Given the description of an element on the screen output the (x, y) to click on. 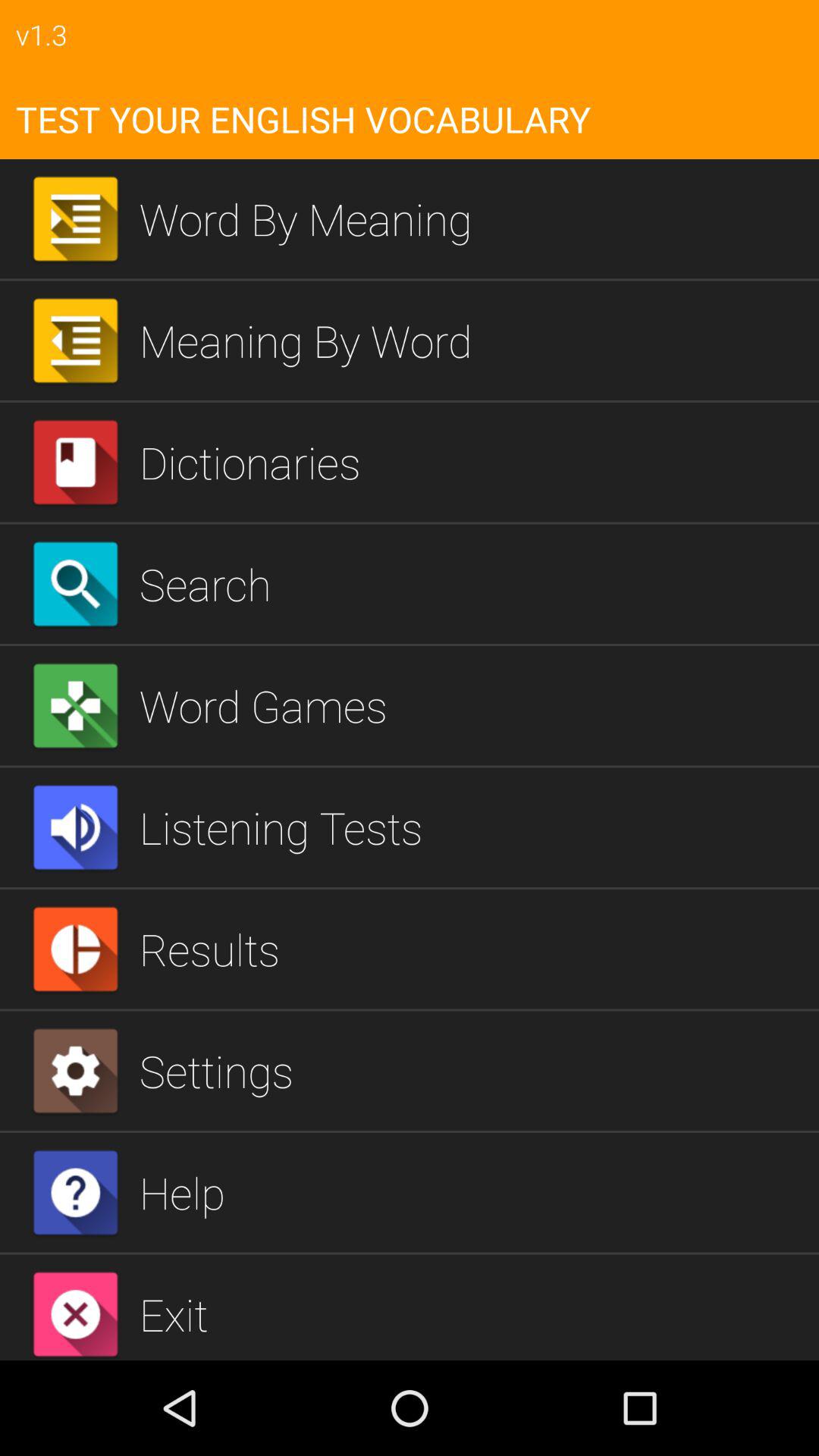
launch listening tests icon (473, 827)
